Given the description of an element on the screen output the (x, y) to click on. 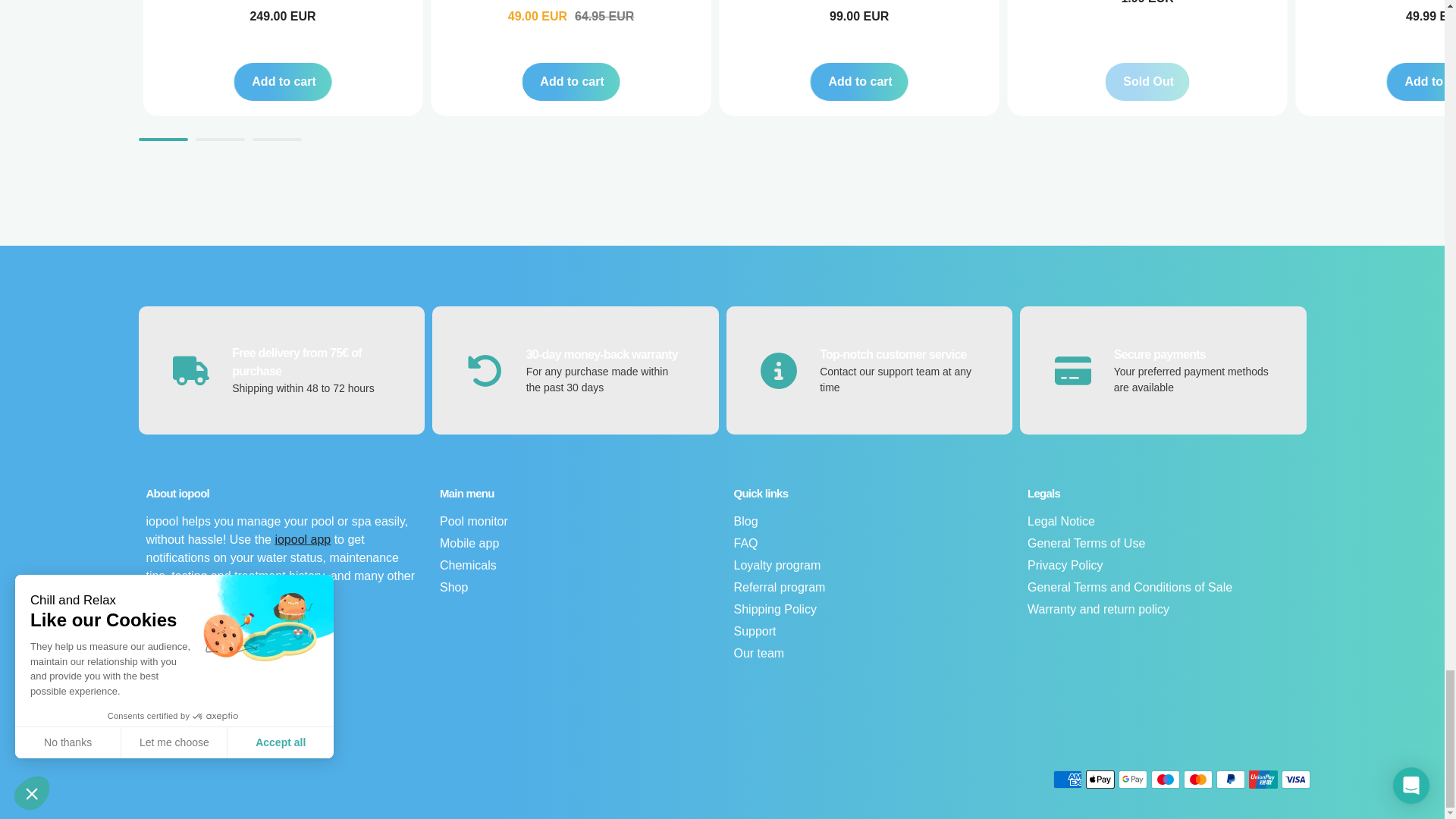
Access to iopool mobile app pages (302, 539)
